Given the description of an element on the screen output the (x, y) to click on. 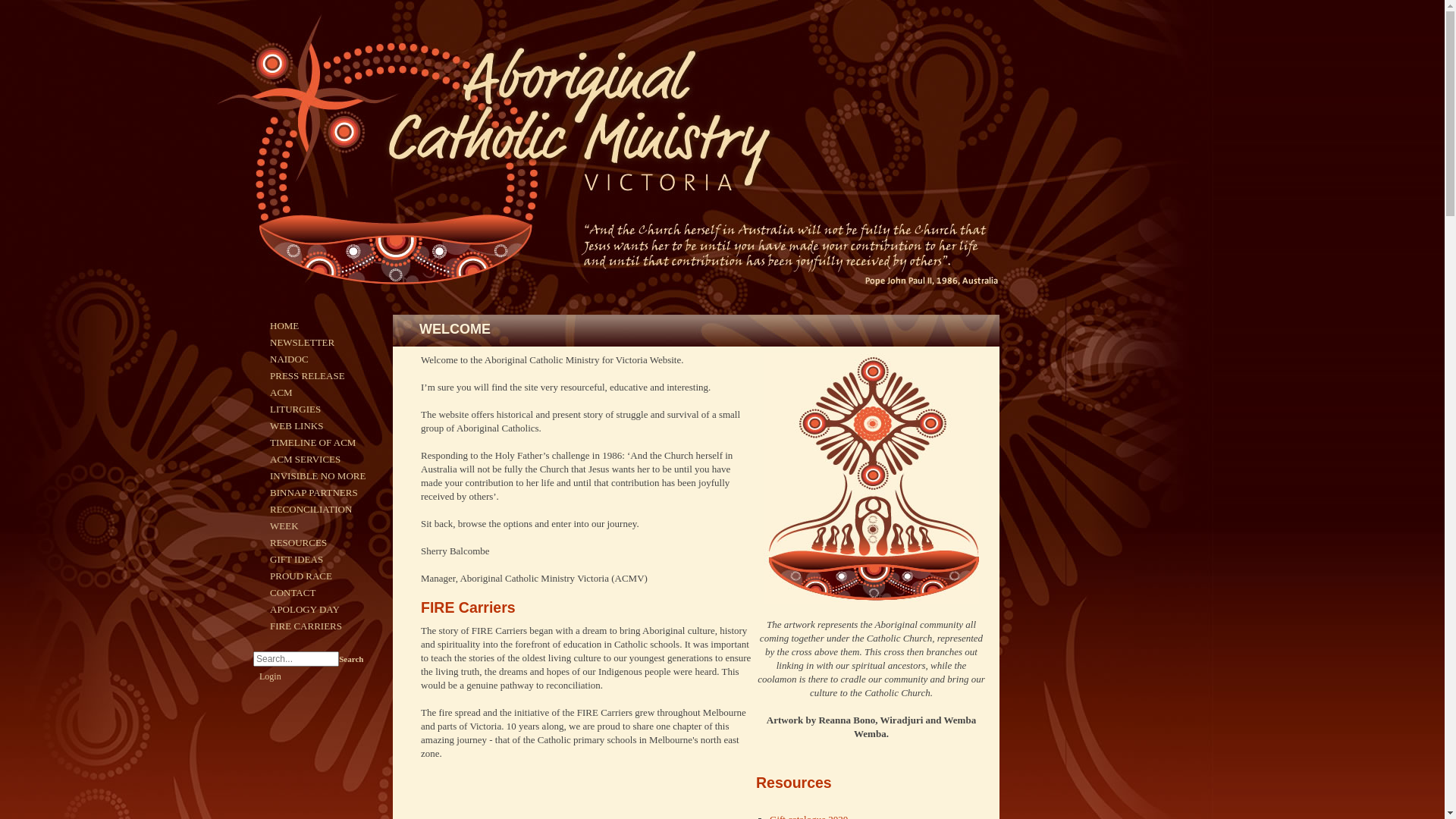
ACM SERVICES Element type: text (304, 458)
Search Element type: text (350, 658)
NEWSLETTER Element type: text (301, 342)
INVISIBLE NO MORE Element type: text (317, 475)
Clear search text Element type: hover (325, 677)
PROUD RACE Element type: text (300, 575)
APOLOGY DAY Element type: text (304, 609)
WEB LINKS Element type: text (296, 425)
RECONCILIATION WEEK Element type: text (310, 517)
HOME Element type: text (283, 325)
ACM Element type: text (280, 392)
GIFT IDEAS Element type: text (296, 558)
FIRE CARRIERS Element type: text (305, 625)
NAIDOC Element type: text (288, 358)
PRESS RELEASE Element type: text (307, 375)
LITURGIES Element type: text (294, 408)
RESOURCES Element type: text (297, 542)
CONTACT Element type: text (292, 592)
TIMELINE OF ACM Element type: text (312, 442)
Login Element type: text (270, 676)
BINNAP PARTNERS Element type: text (313, 492)
